Given the description of an element on the screen output the (x, y) to click on. 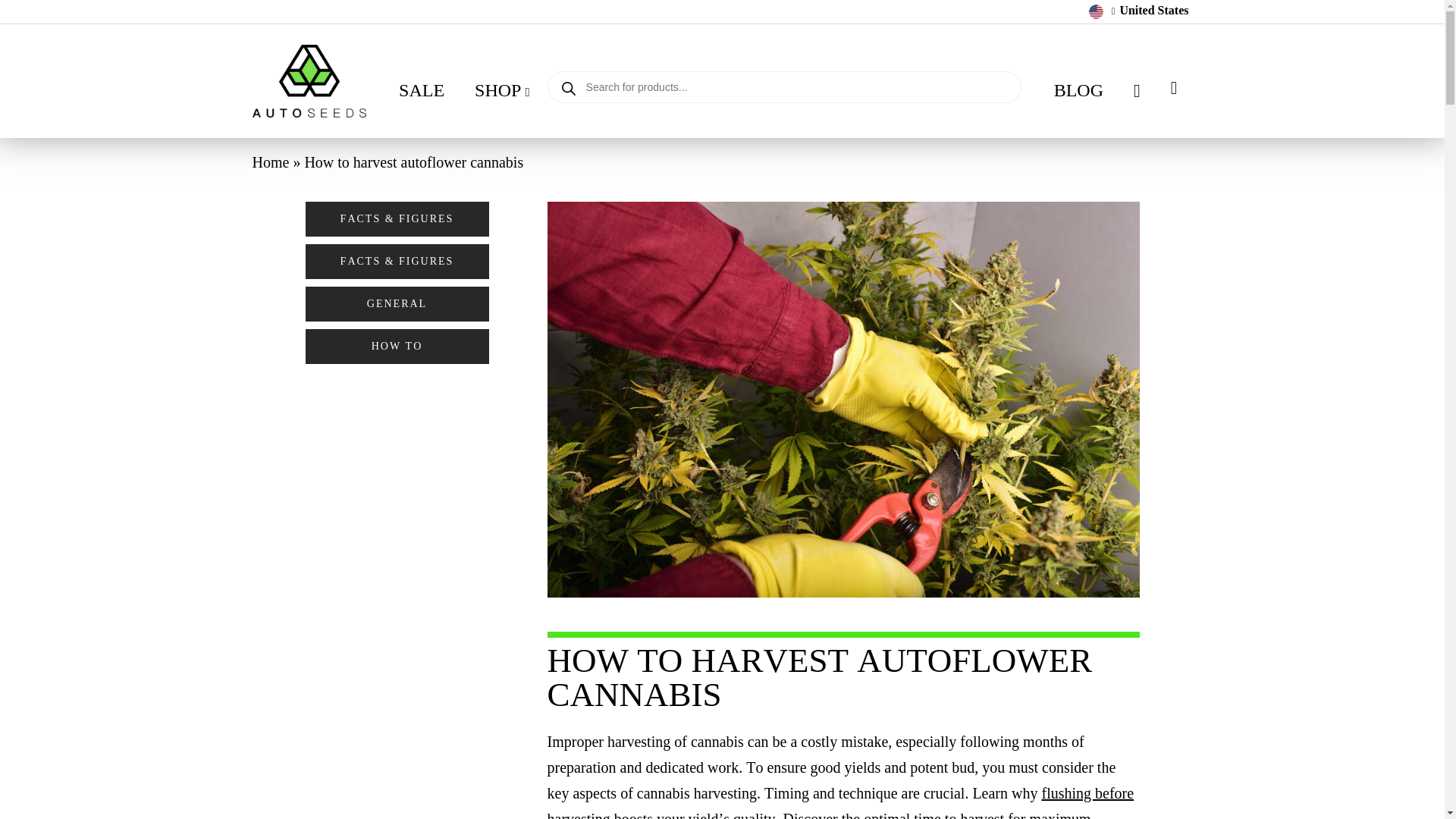
HOW TO (395, 346)
flushing before harvesting (840, 801)
Home (269, 161)
GENERAL (395, 303)
